Given the description of an element on the screen output the (x, y) to click on. 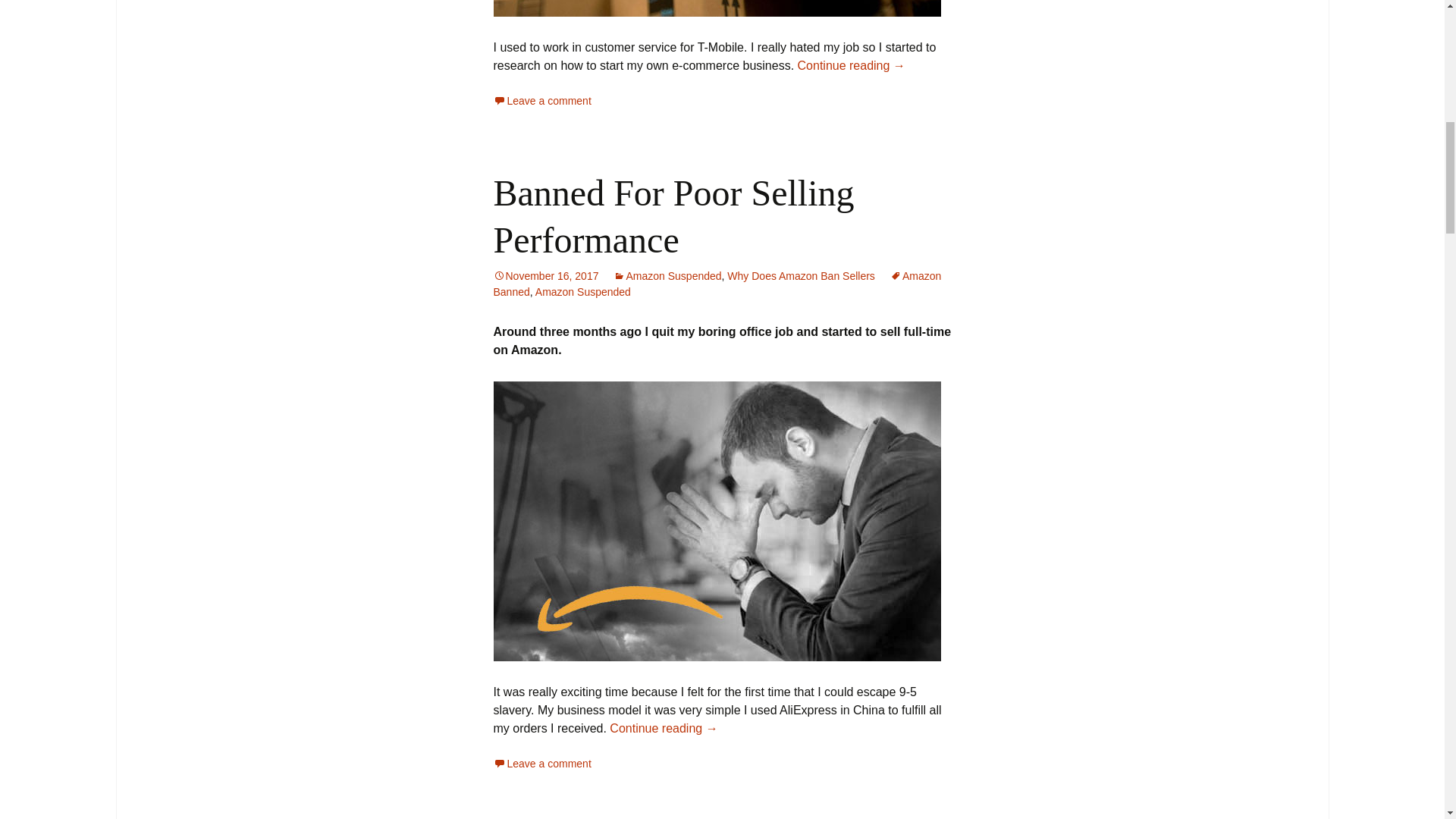
November 16, 2017 (545, 275)
Amazon Suspended (666, 275)
Banned For Poor Selling Performance (673, 216)
Why Does Amazon Ban Sellers (800, 275)
Permalink to Banned For Poor Selling Performance (545, 275)
Leave a comment (542, 763)
Amazon Banned (716, 284)
Leave a comment (542, 101)
Amazon Suspended (582, 291)
